Given the description of an element on the screen output the (x, y) to click on. 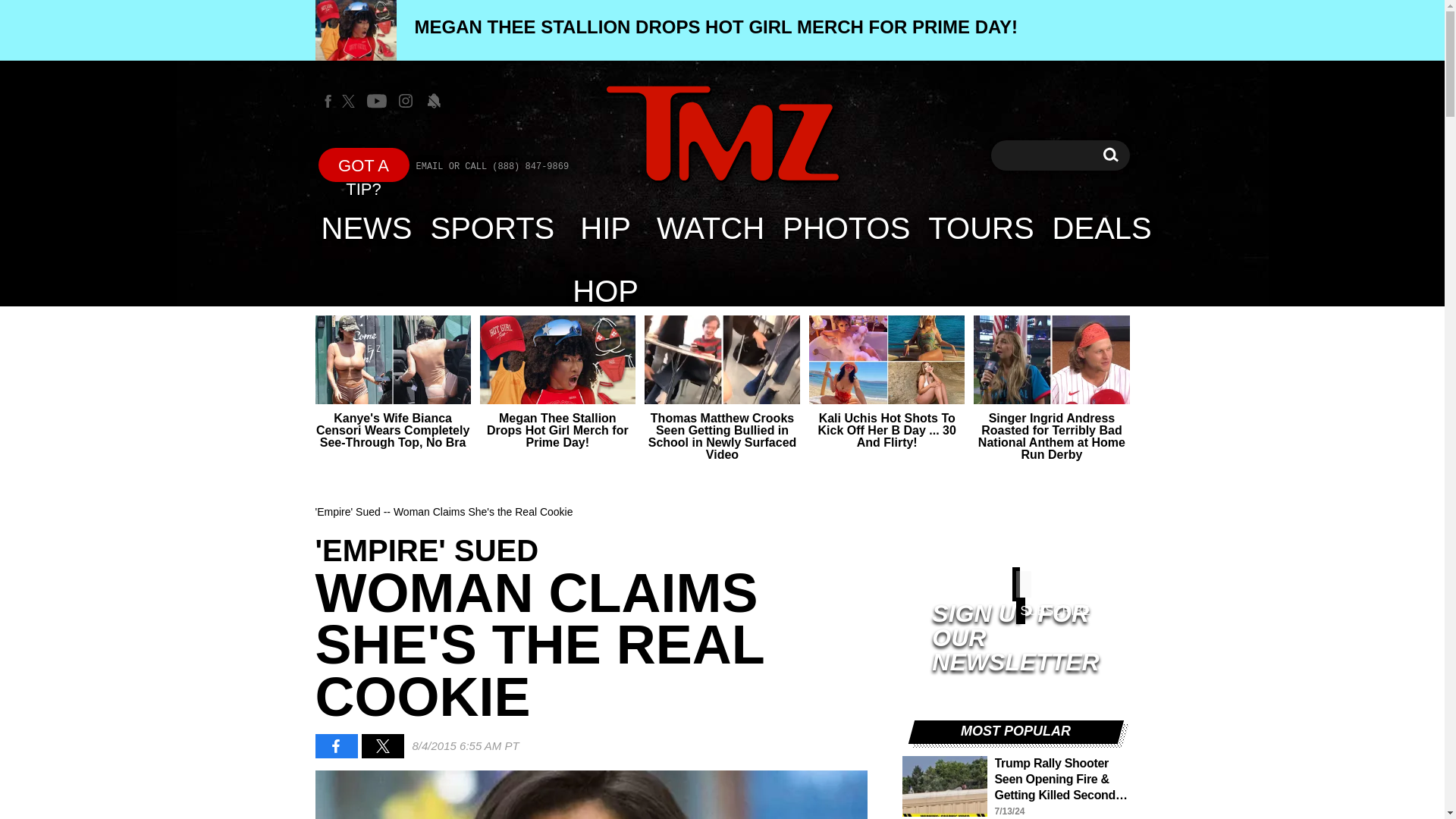
TOURS (980, 227)
WATCH (710, 227)
SPORTS (493, 227)
PHOTOS (845, 227)
HIP HOP (605, 227)
NEWS (367, 227)
GOT A TIP? (363, 164)
TMZ (722, 134)
Search (1110, 154)
TMZ (1110, 155)
DEALS (722, 133)
MEGAN THEE STALLION DROPS HOT GIRL MERCH FOR PRIME DAY! (1101, 227)
